Given the description of an element on the screen output the (x, y) to click on. 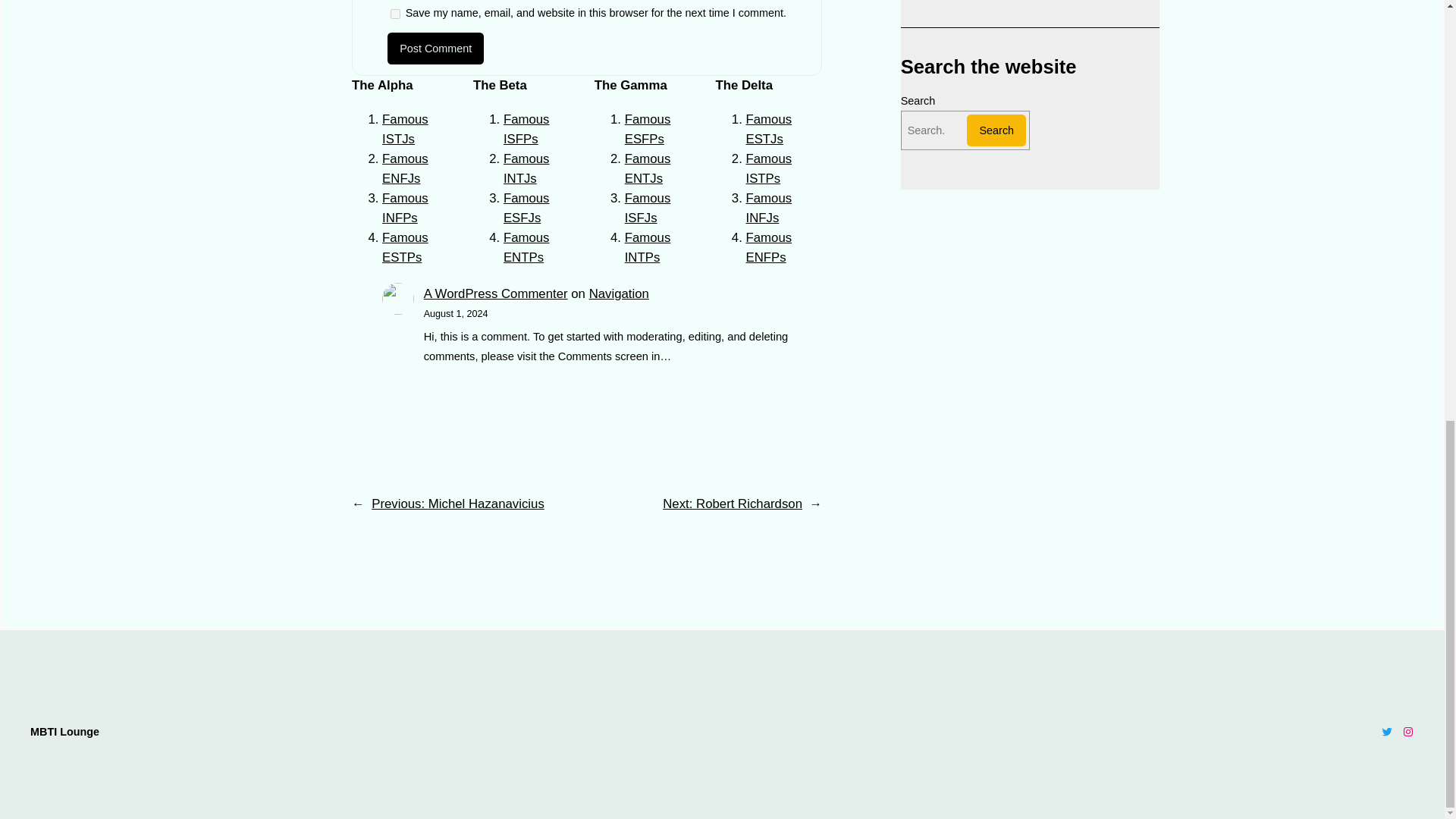
Famous ENTJs (647, 168)
Famous ENFJs (404, 168)
Famous ENFPs (768, 247)
Famous INTPs (647, 247)
Search (996, 130)
Navigation (619, 293)
Famous INTJs (526, 168)
Instagram (1407, 731)
Previous: Michel Hazanavicius (457, 503)
Famous ISTJs (404, 129)
Famous ISFJs (647, 207)
Twitter (1386, 731)
Next: Robert Richardson (732, 503)
Famous INFJs (768, 207)
Post Comment (435, 48)
